Given the description of an element on the screen output the (x, y) to click on. 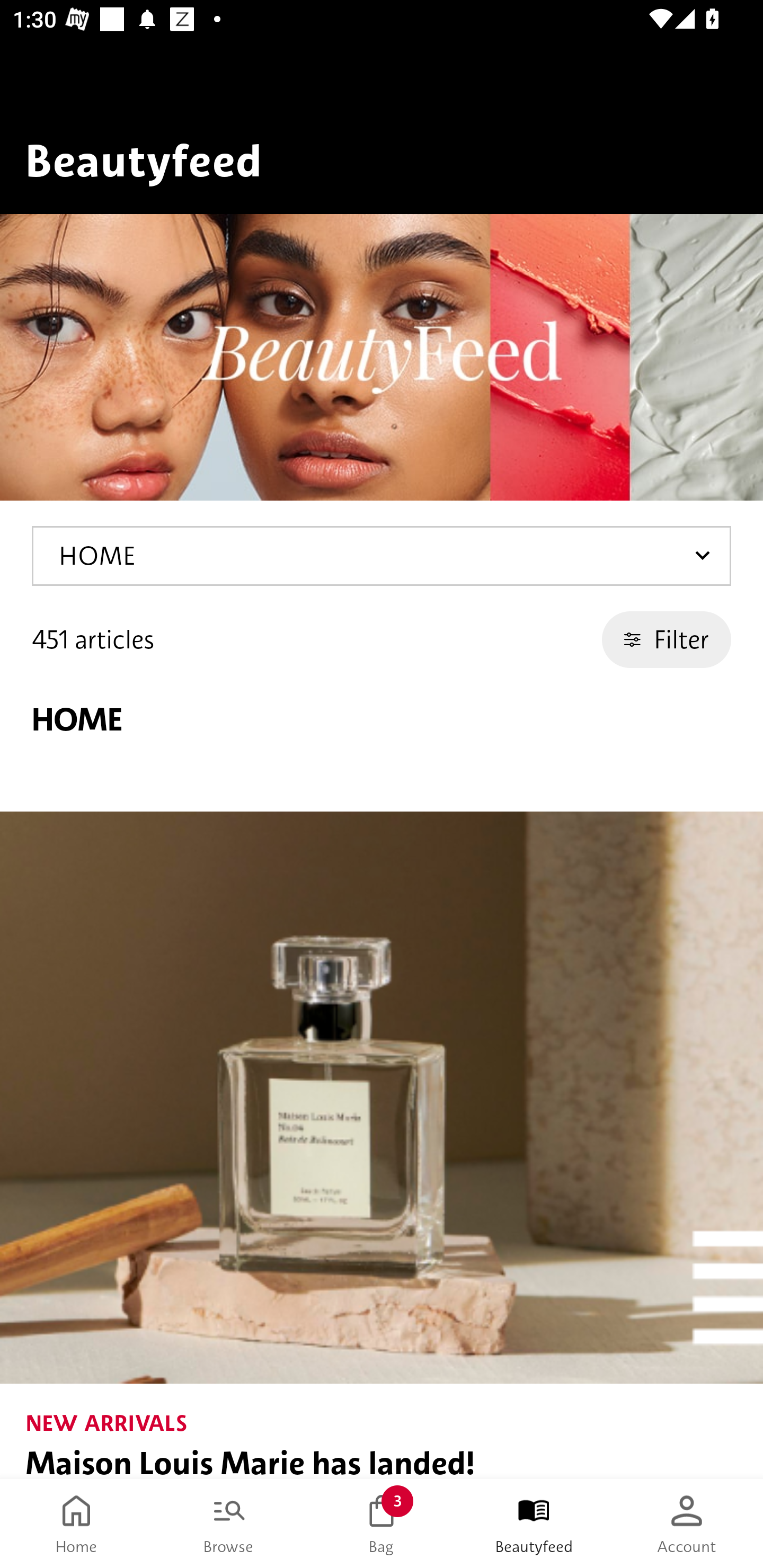
HOME (381, 555)
Filter (666, 639)
NEW ARRIVALS Maison Louis Marie has landed! (381, 1145)
Home (76, 1523)
Browse (228, 1523)
Bag 3 Bag (381, 1523)
Account (686, 1523)
